Given the description of an element on the screen output the (x, y) to click on. 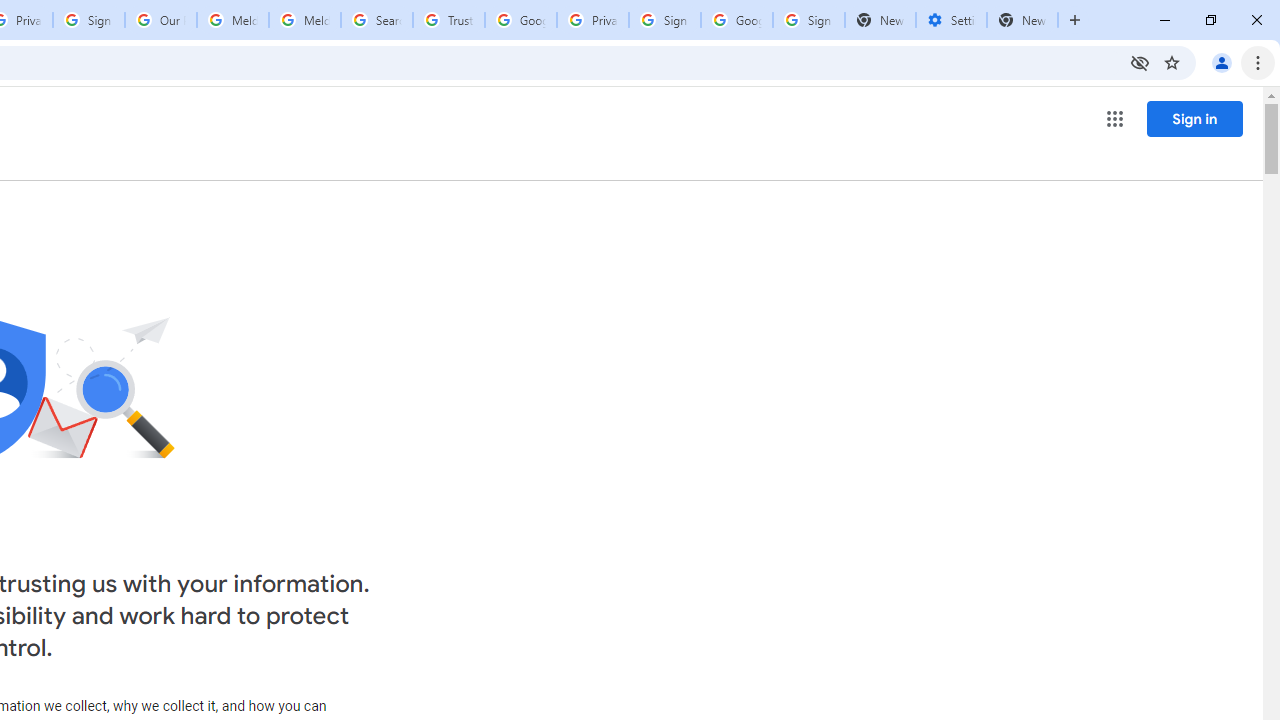
Trusted Information and Content - Google Safety Center (449, 20)
Sign in - Google Accounts (664, 20)
